Given the description of an element on the screen output the (x, y) to click on. 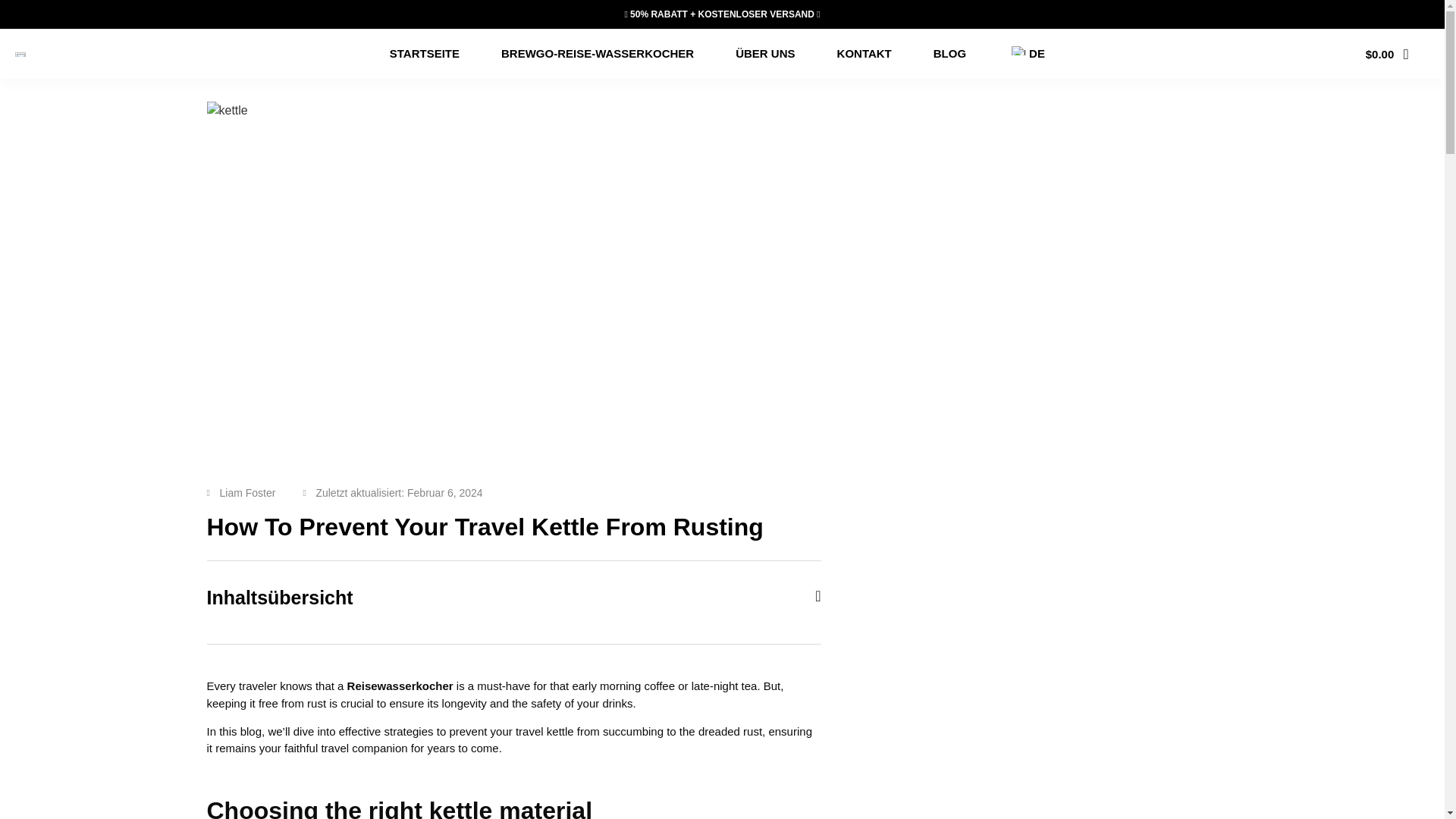
STARTSEITE (425, 53)
German (1018, 50)
DE (1026, 53)
BREWGO-REISE-WASSERKOCHER (597, 53)
KONTAKT (864, 53)
BLOG (949, 53)
